Given the description of an element on the screen output the (x, y) to click on. 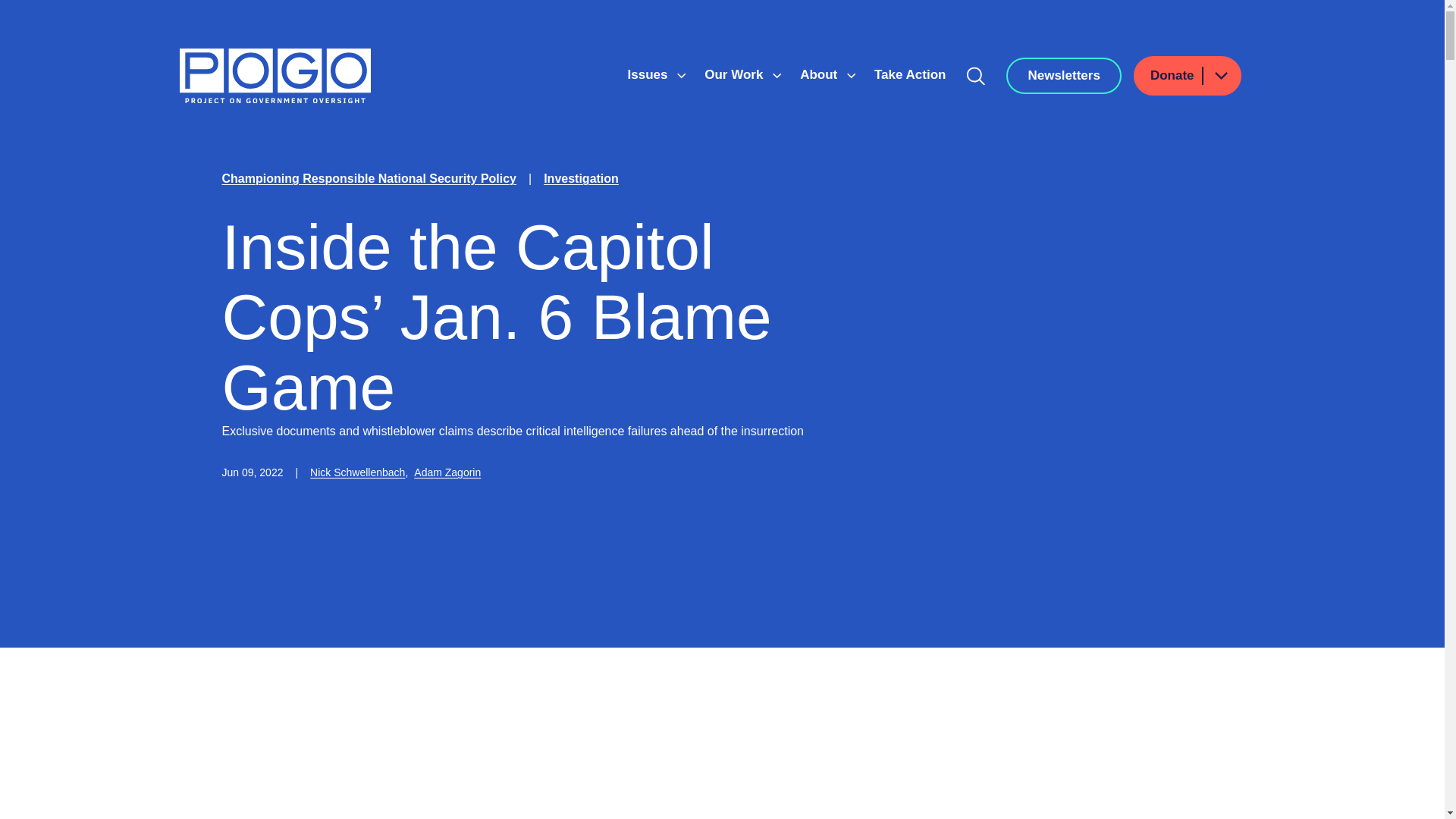
Home (274, 75)
Issues (649, 74)
Donate (1187, 75)
Our Work (735, 74)
Show submenu for Issues (681, 75)
Take Action (909, 74)
About (820, 74)
Search (976, 75)
Newsletters (1063, 75)
Show submenu for Donate (1220, 75)
Show submenu for About (851, 75)
Show submenu for Our Work (777, 75)
